Given the description of an element on the screen output the (x, y) to click on. 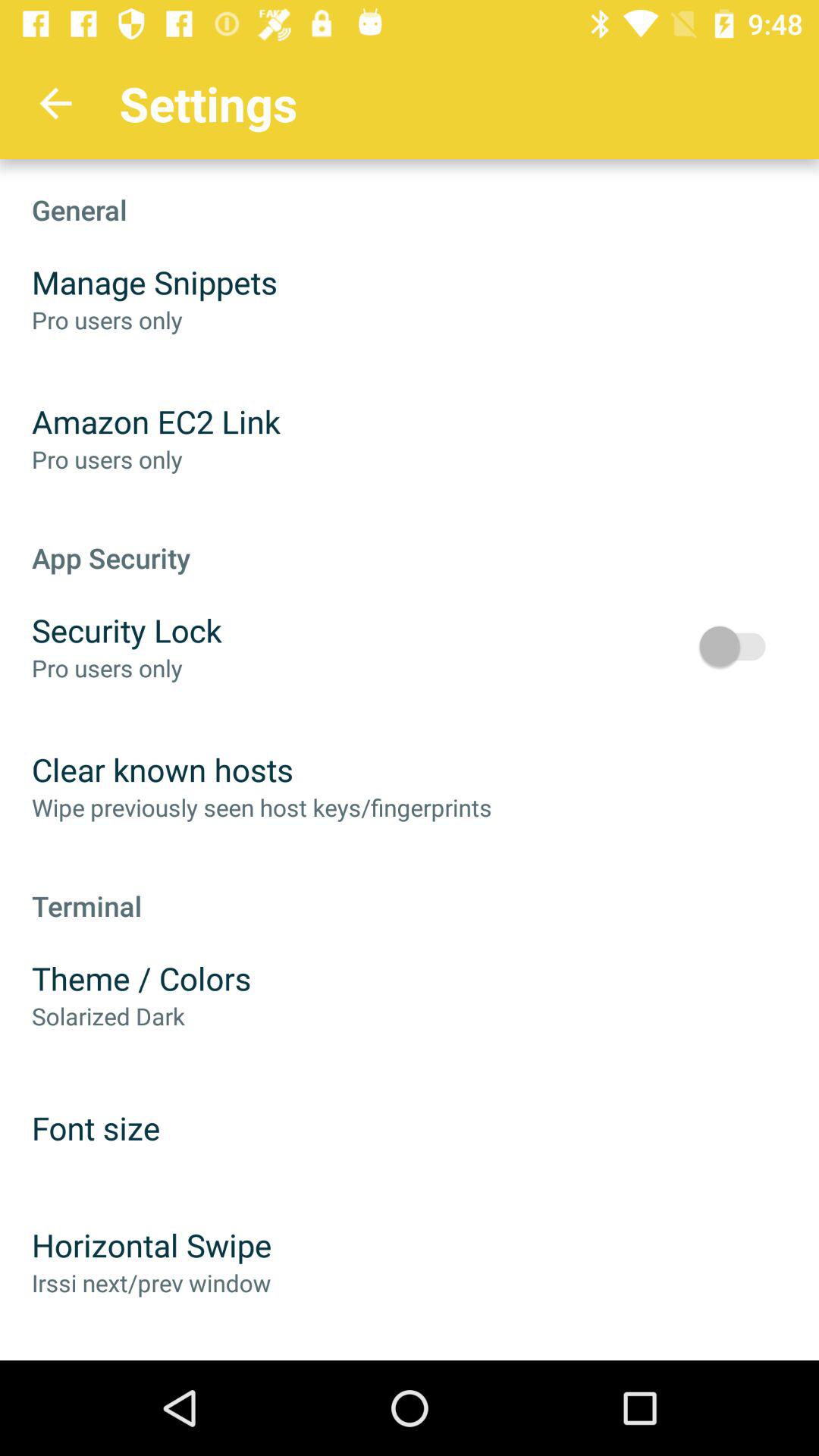
choose icon above wipe previously seen icon (162, 769)
